Given the description of an element on the screen output the (x, y) to click on. 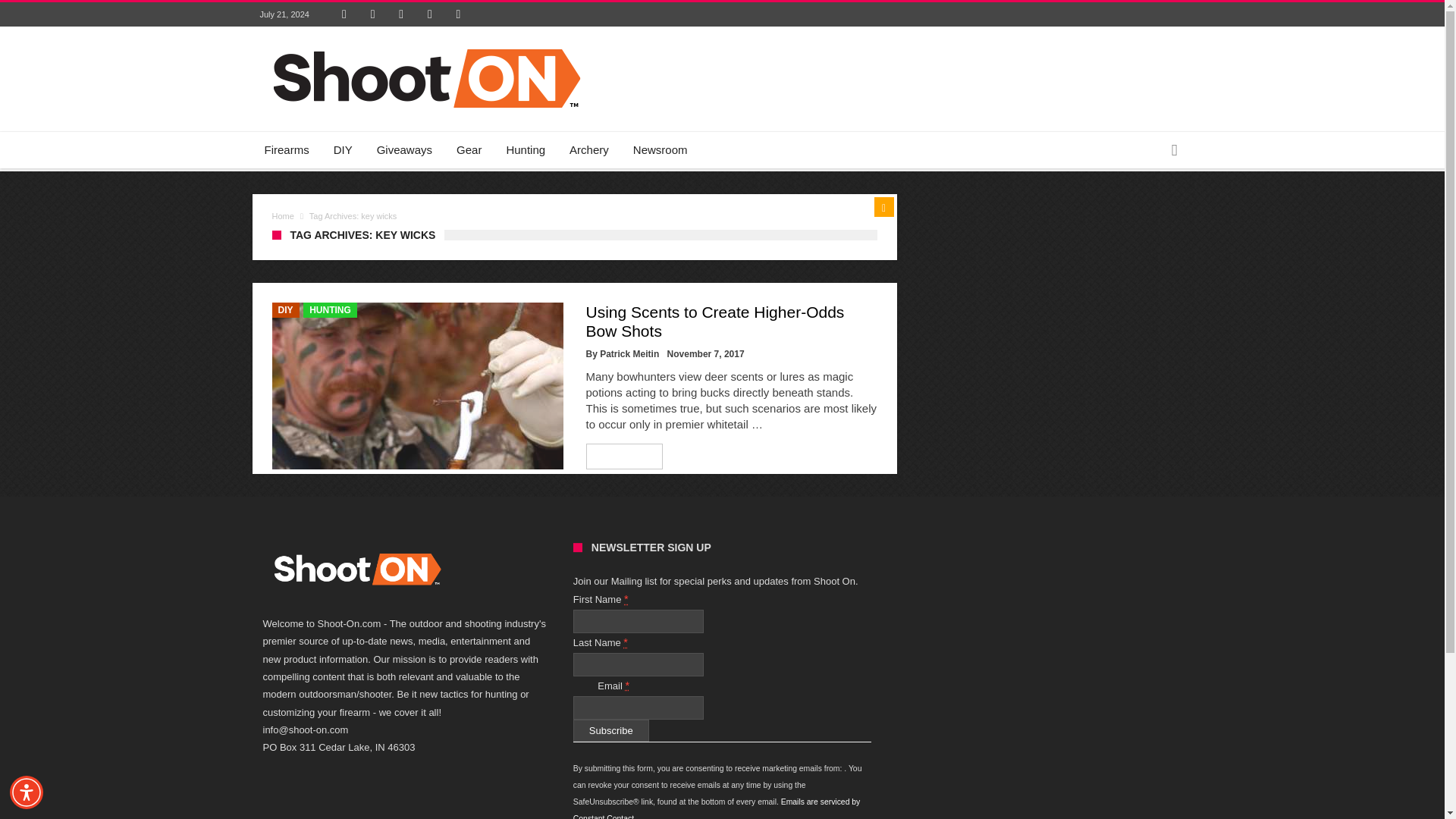
Twitter (373, 14)
Youtube (429, 14)
Posts by Patrick Meitin (629, 354)
instagram (457, 14)
HUNTING (329, 309)
Using Scents to Create Higher-Odds Bow Shots (714, 321)
Pinterest (400, 14)
Accessibility Menu (26, 792)
Home (282, 215)
Subscribe (611, 730)
Giveaways (404, 149)
Read More (625, 456)
Newsroom (660, 149)
Archery (589, 149)
Hunting (525, 149)
